Given the description of an element on the screen output the (x, y) to click on. 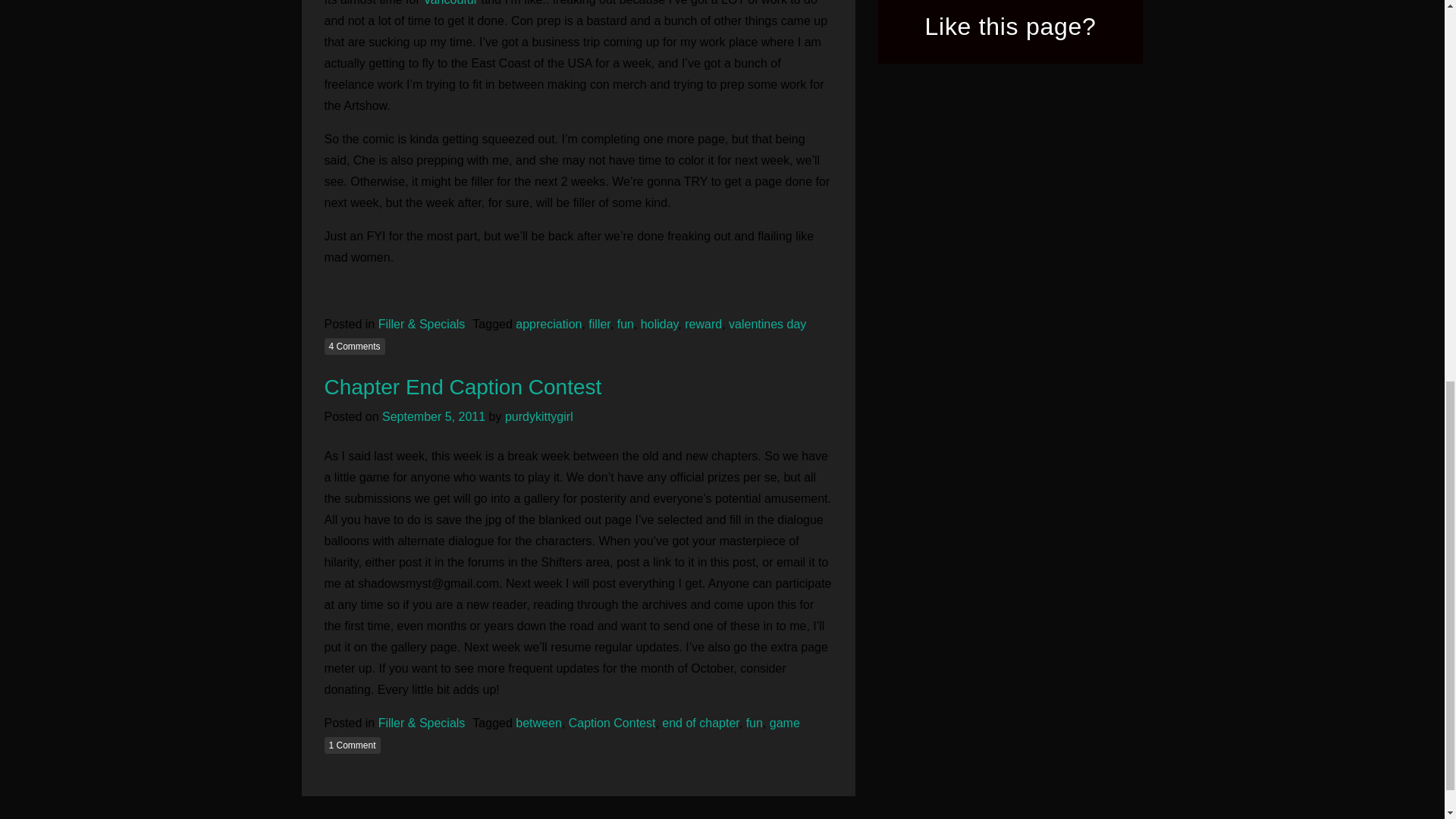
purdykittygirl (539, 416)
holiday (659, 323)
valentines day (767, 323)
fun (625, 323)
end of chapter (700, 722)
Vancoufur (451, 2)
between (538, 722)
Caption Contest (612, 722)
reward (703, 323)
filler (599, 323)
